Given the description of an element on the screen output the (x, y) to click on. 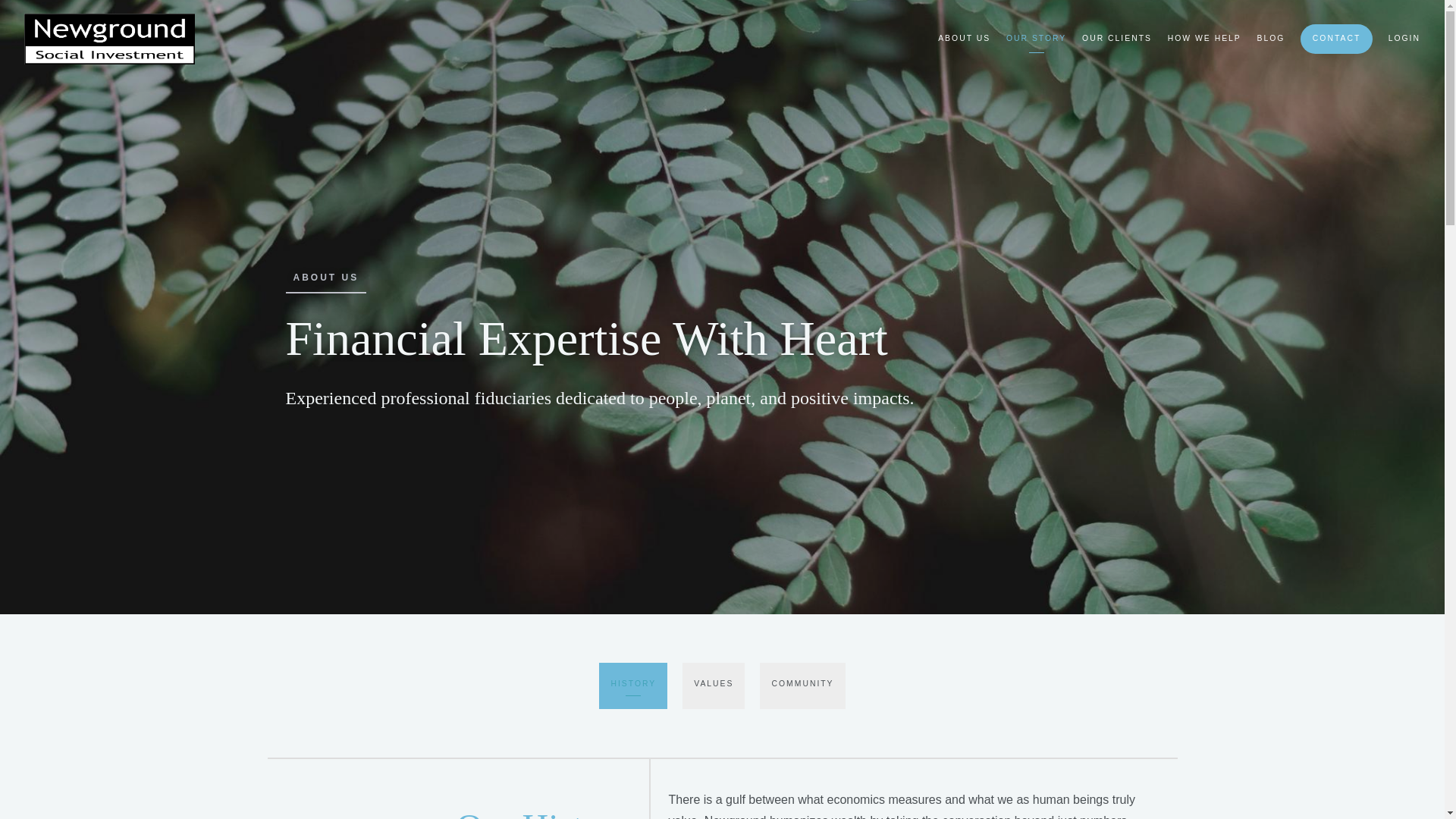
COMMUNITY (802, 685)
CONTACT (1336, 39)
OUR STORY (1035, 38)
HOW WE HELP (1204, 38)
HISTORY (632, 685)
BLOG (1271, 38)
OUR CLIENTS (1116, 38)
LOGIN (1405, 38)
VALUES (713, 685)
ABOUT US (963, 38)
